Given the description of an element on the screen output the (x, y) to click on. 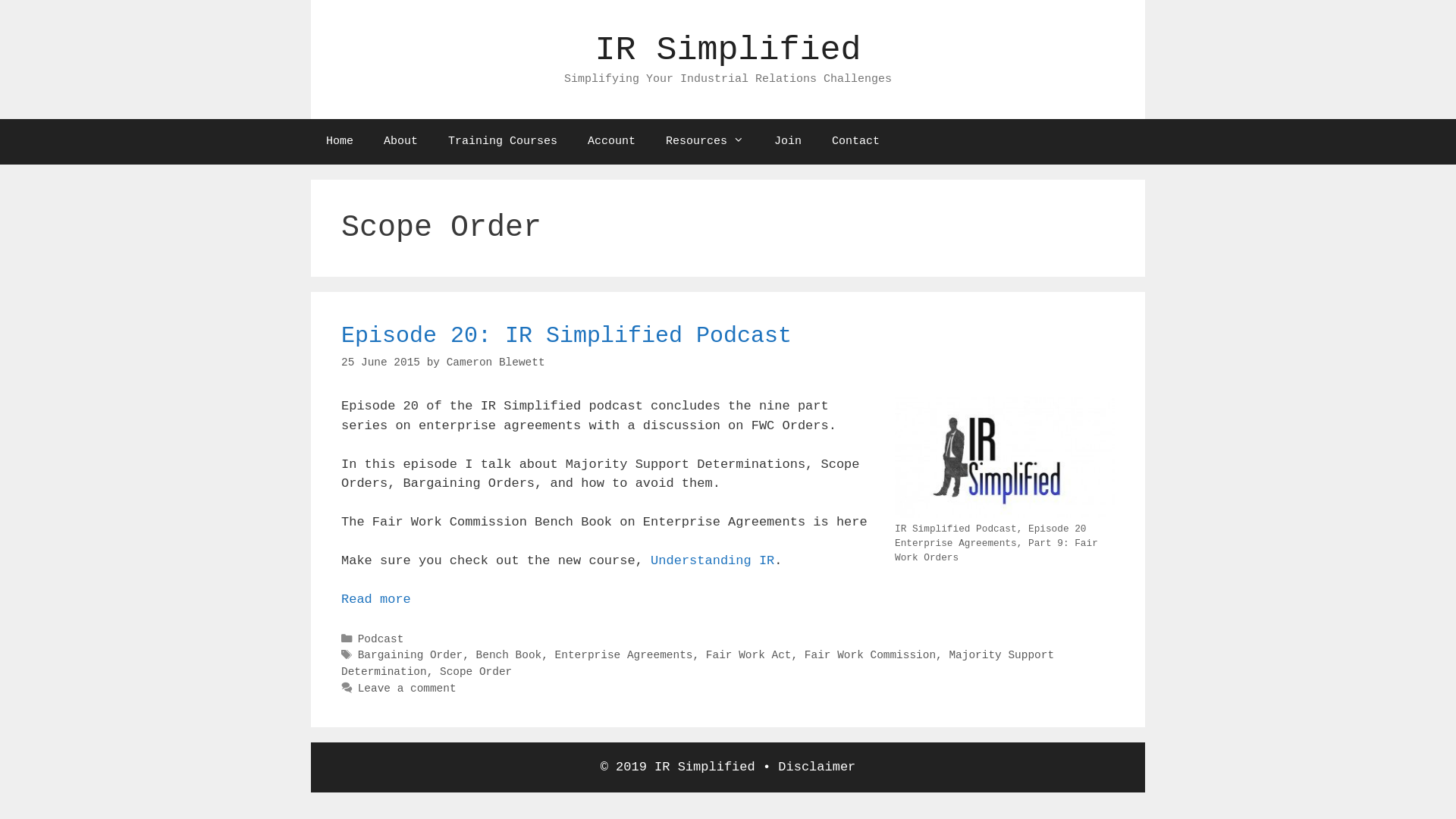
Scope Order Element type: text (475, 671)
IR Simplified Element type: text (727, 50)
Read more Element type: text (376, 599)
Contact Element type: text (855, 140)
Resources Element type: text (704, 140)
Training Courses Element type: text (502, 140)
Home Element type: text (339, 140)
Leave a comment Element type: text (406, 688)
Fair Work Commission Element type: text (869, 655)
Join Element type: text (787, 140)
Majority Support Determination Element type: text (697, 663)
Bench Book Element type: text (509, 655)
Account Element type: text (611, 140)
Bargaining Order Element type: text (410, 655)
Episode 20: IR Simplified Podcast Element type: text (566, 335)
Understanding IR Element type: text (712, 560)
Disclaimer Element type: text (816, 766)
Enterprise Agreements Element type: text (624, 655)
Cameron Blewett Element type: text (495, 362)
Podcast Element type: text (380, 639)
About Element type: text (400, 140)
Fair Work Act Element type: text (748, 655)
